Given the description of an element on the screen output the (x, y) to click on. 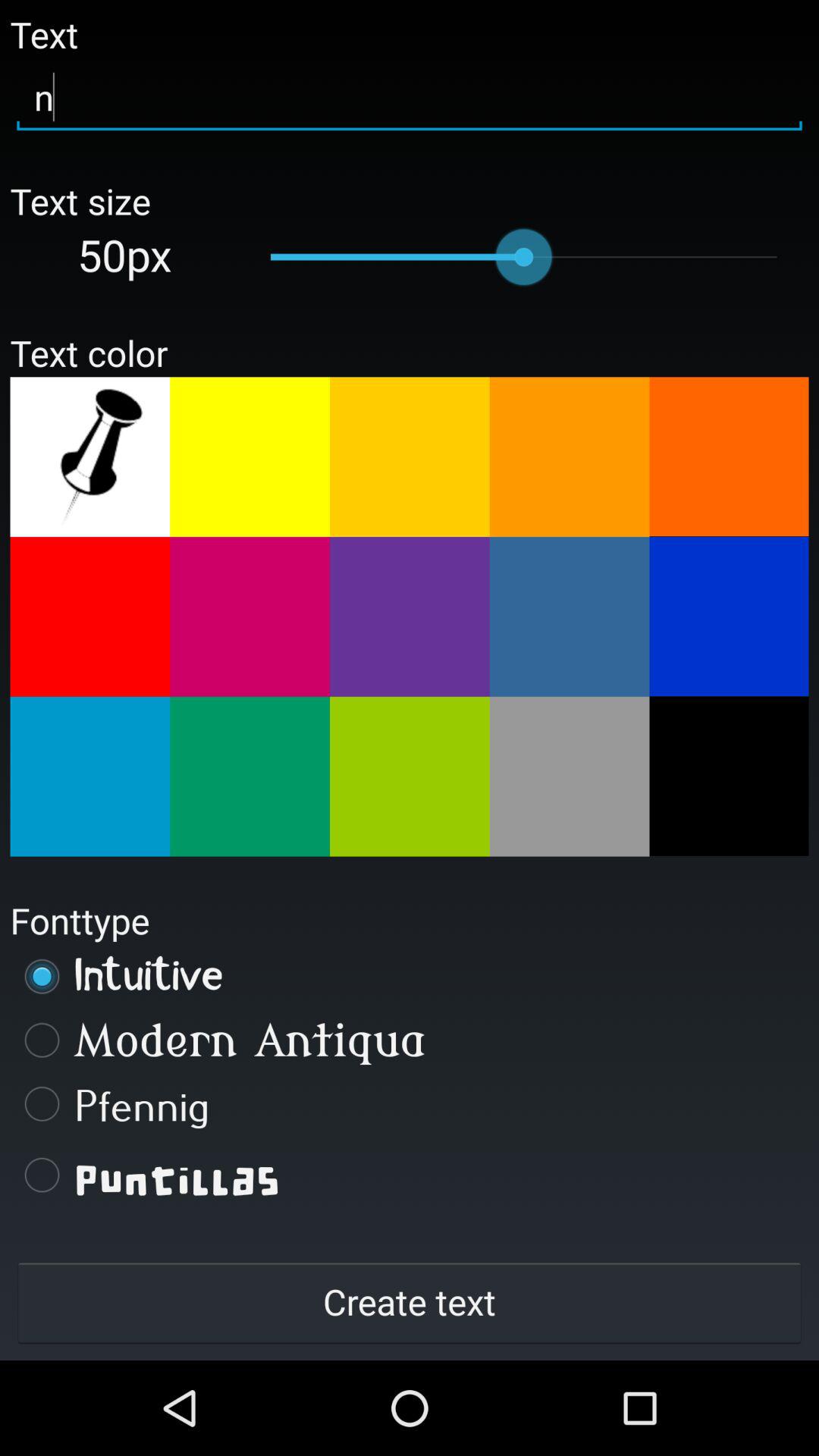
choose gray text color (569, 776)
